Given the description of an element on the screen output the (x, y) to click on. 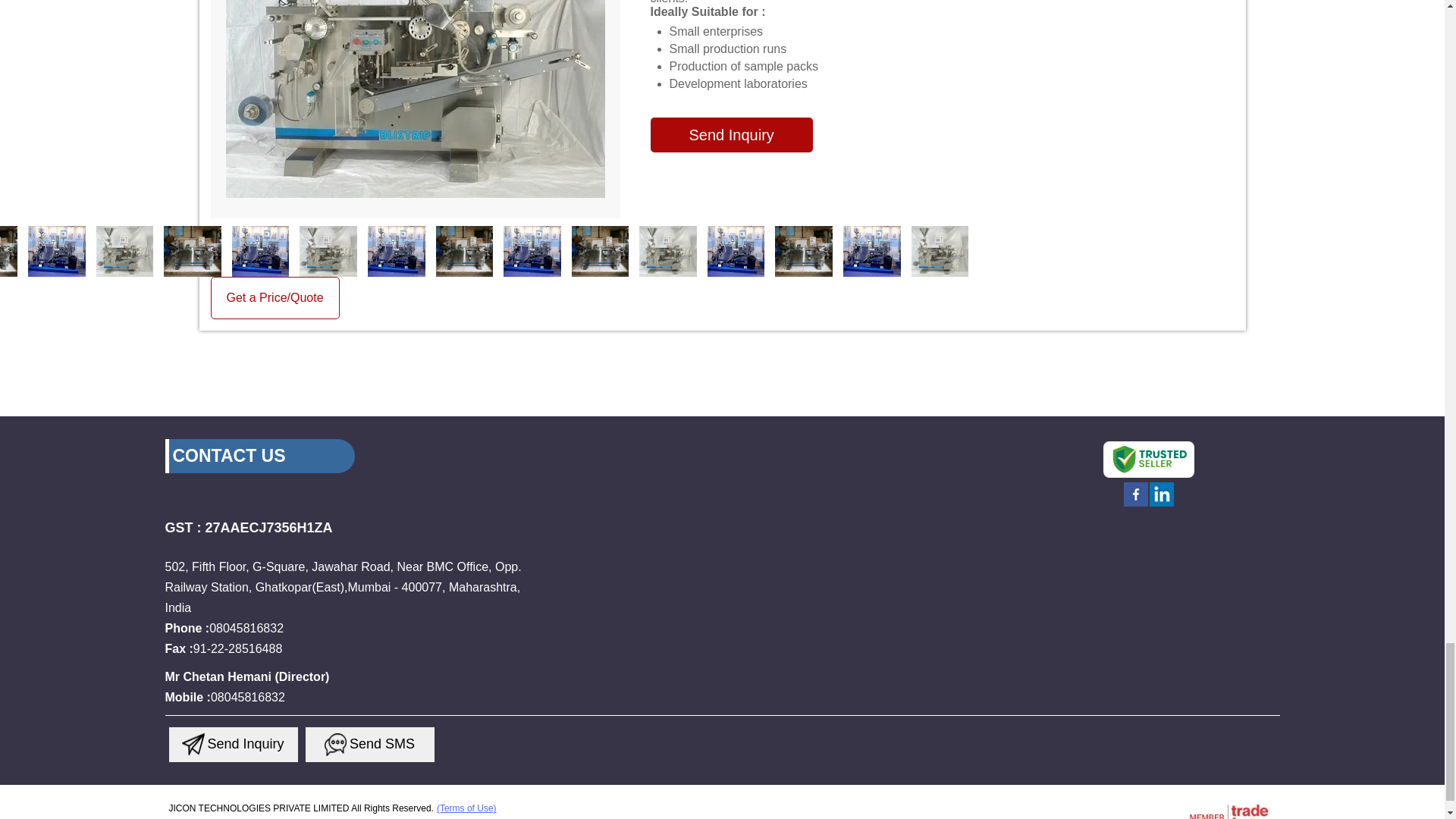
Send Inquiry (193, 744)
Send Inquiry (335, 744)
Facebook (1136, 504)
LinkedIn (1161, 504)
